Given the description of an element on the screen output the (x, y) to click on. 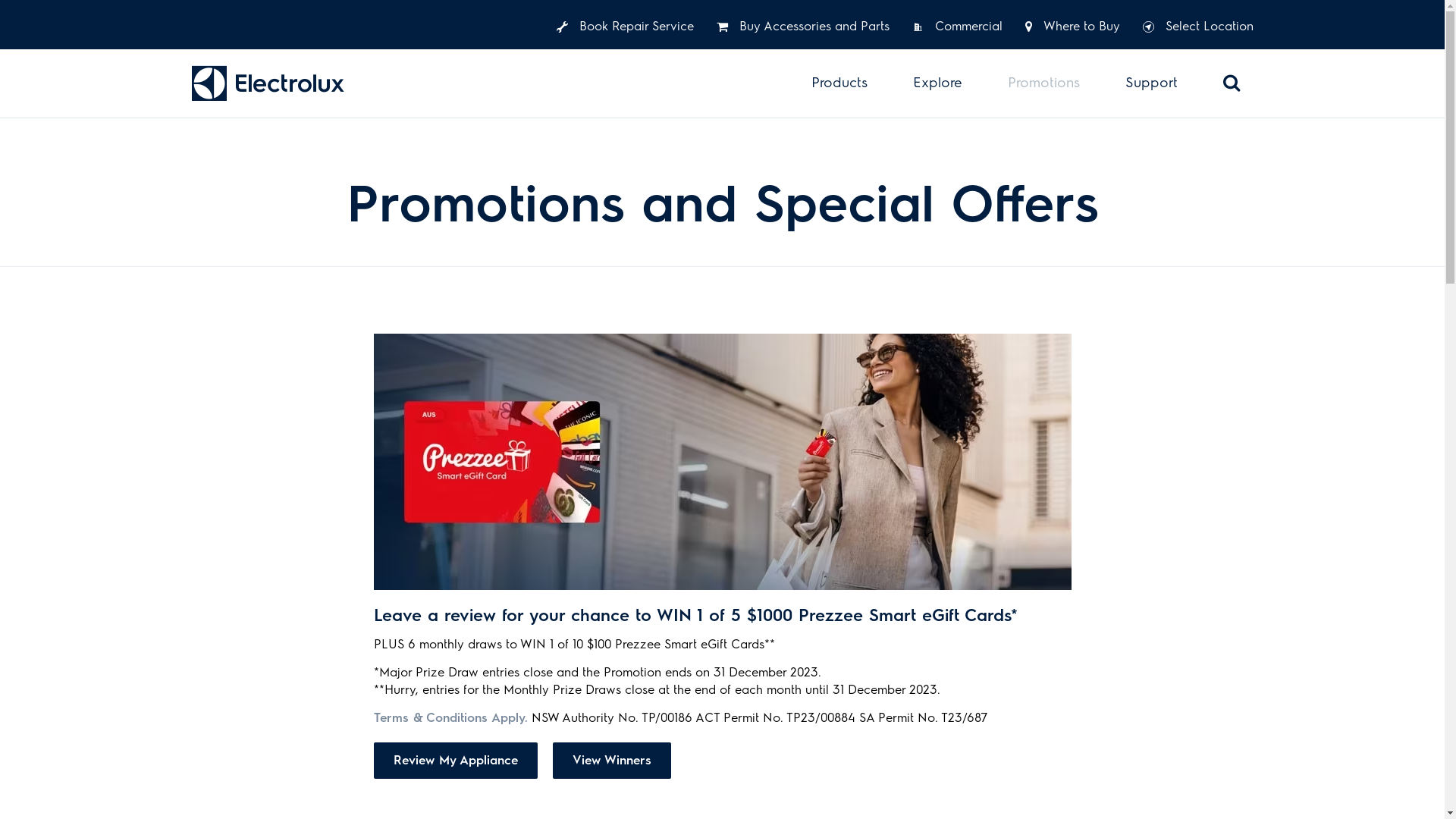
Promotions Element type: text (1043, 83)
Commercial Element type: text (956, 26)
Select Location Element type: text (1197, 26)
Terms & Conditions Apply. Element type: text (450, 717)
Book Repair Service Element type: text (624, 26)
View Winners Element type: text (611, 760)
Where to Buy Element type: text (1072, 26)
  Element type: text (269, 83)
Explore Element type: text (937, 83)
Support Element type: text (1151, 83)
Buy Accessories and Parts Element type: text (801, 26)
Review My Appliance Element type: text (454, 760)
